Given the description of an element on the screen output the (x, y) to click on. 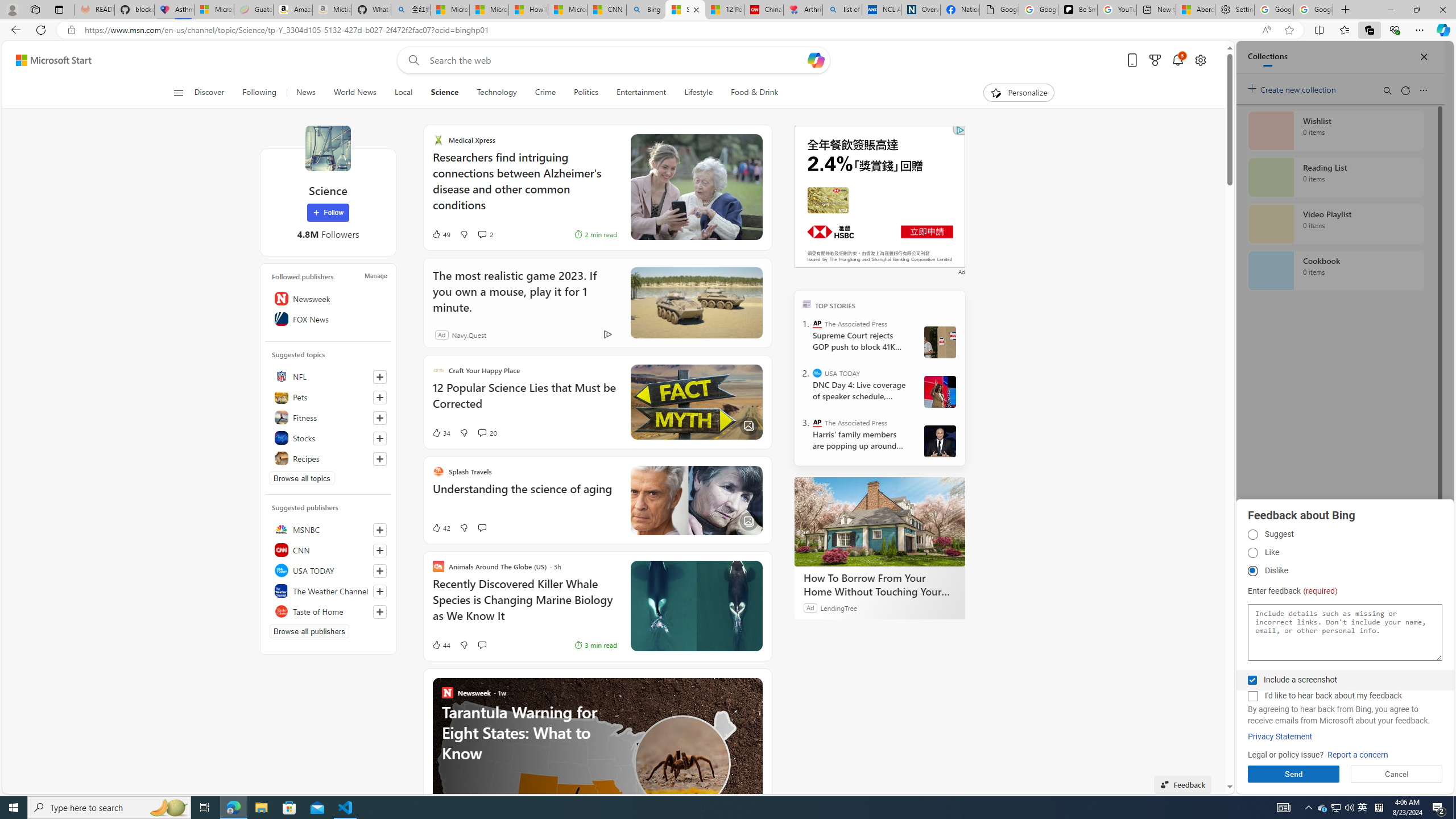
AutomationID: fbpgdgtp3 (1252, 570)
12 Popular Science Lies that Must be Corrected (724, 9)
Privacy Statement (1280, 737)
Arthritis: Ask Health Professionals (802, 9)
Dislike Dislike (1252, 570)
